Given the description of an element on the screen output the (x, y) to click on. 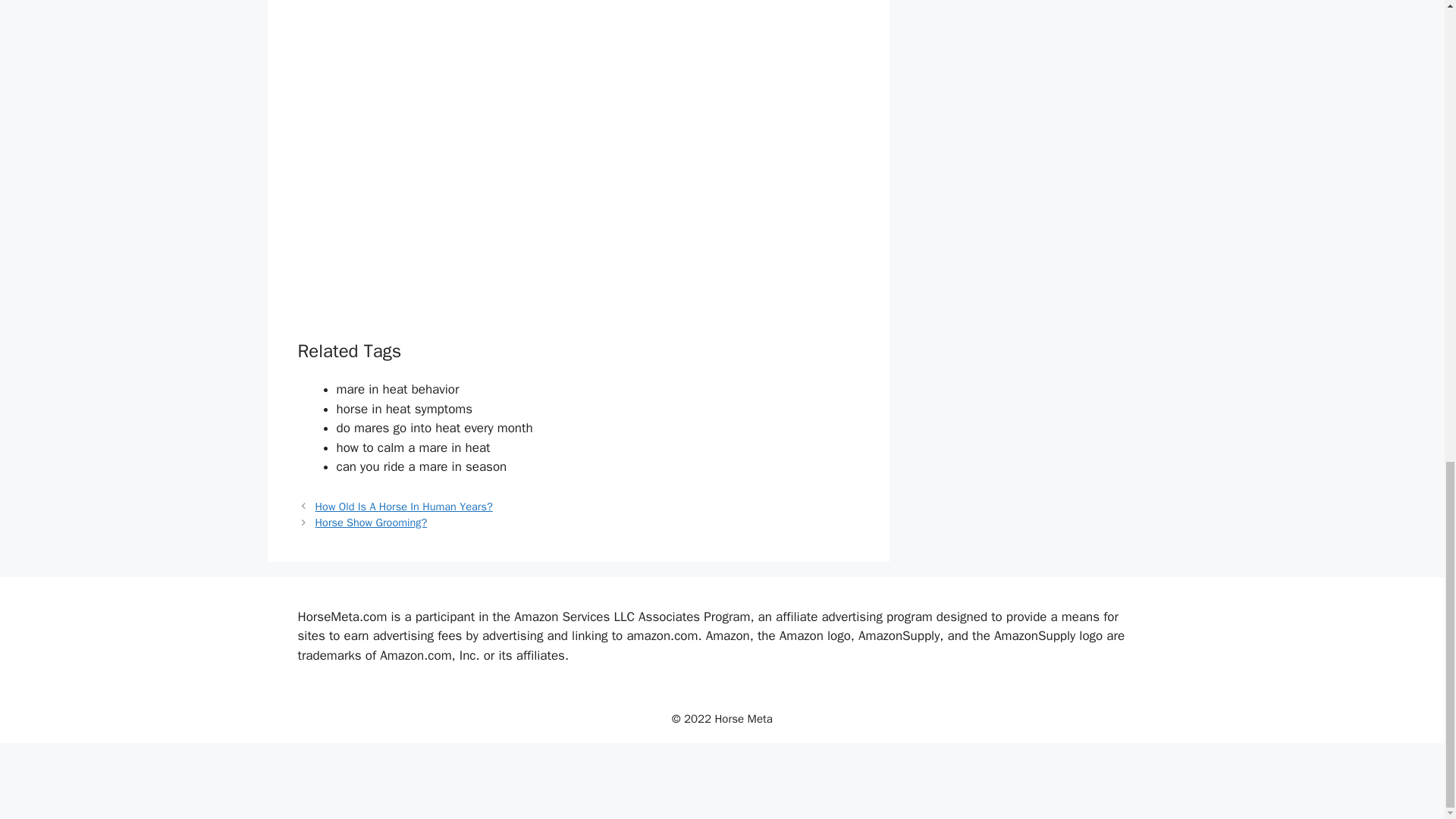
Horse Show Grooming? (371, 522)
How Old Is A Horse In Human Years? (404, 506)
